Given the description of an element on the screen output the (x, y) to click on. 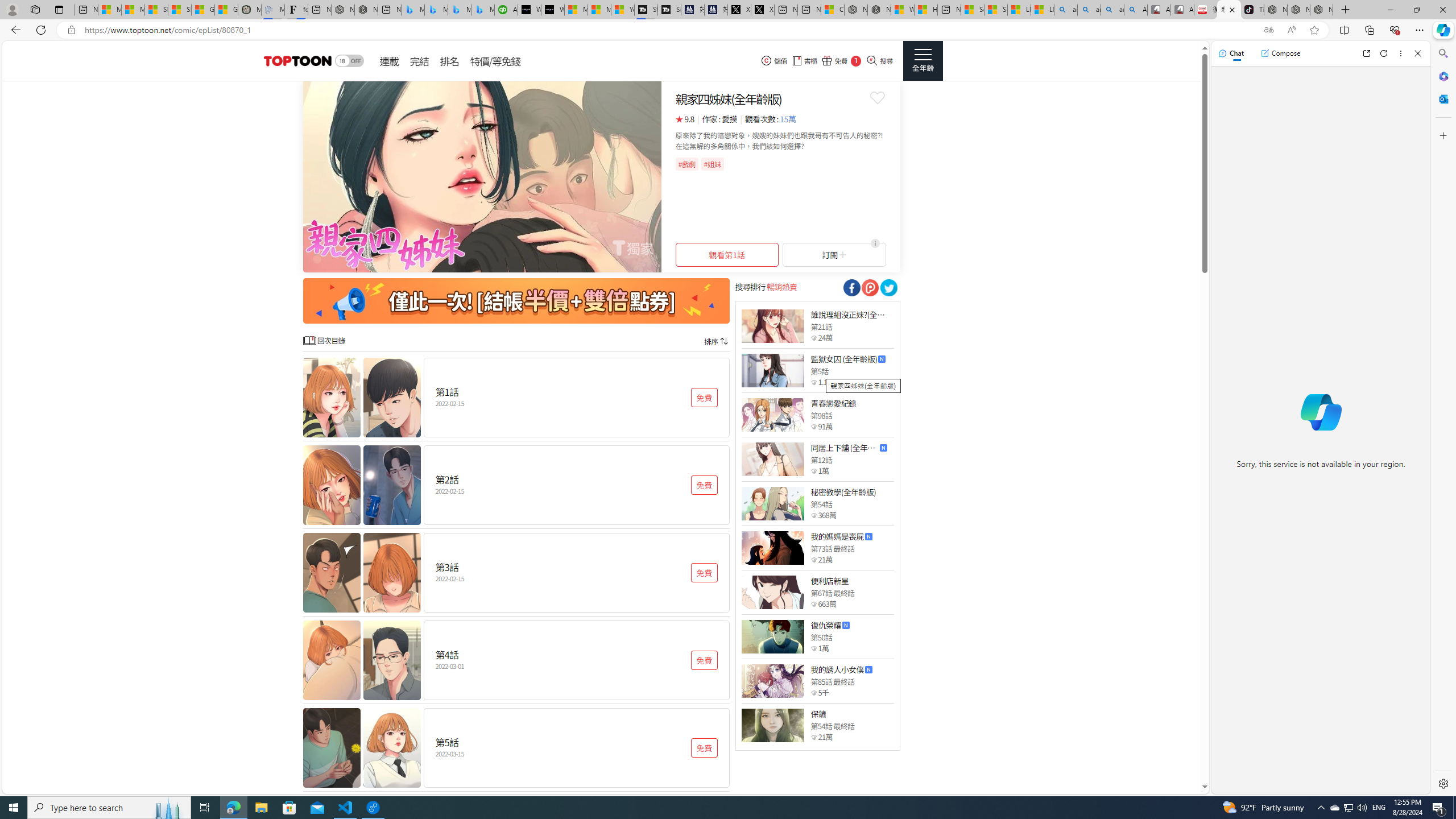
Nordace - Summer Adventures 2024 (879, 9)
Class: socialShare (887, 287)
Open link in new tab (1366, 53)
Microsoft Bing Travel - Shangri-La Hotel Bangkok (482, 9)
Compose (1280, 52)
Microsoft Bing Travel - Stays in Bangkok, Bangkok, Thailand (435, 9)
amazon - Search (1089, 9)
